Given the description of an element on the screen output the (x, y) to click on. 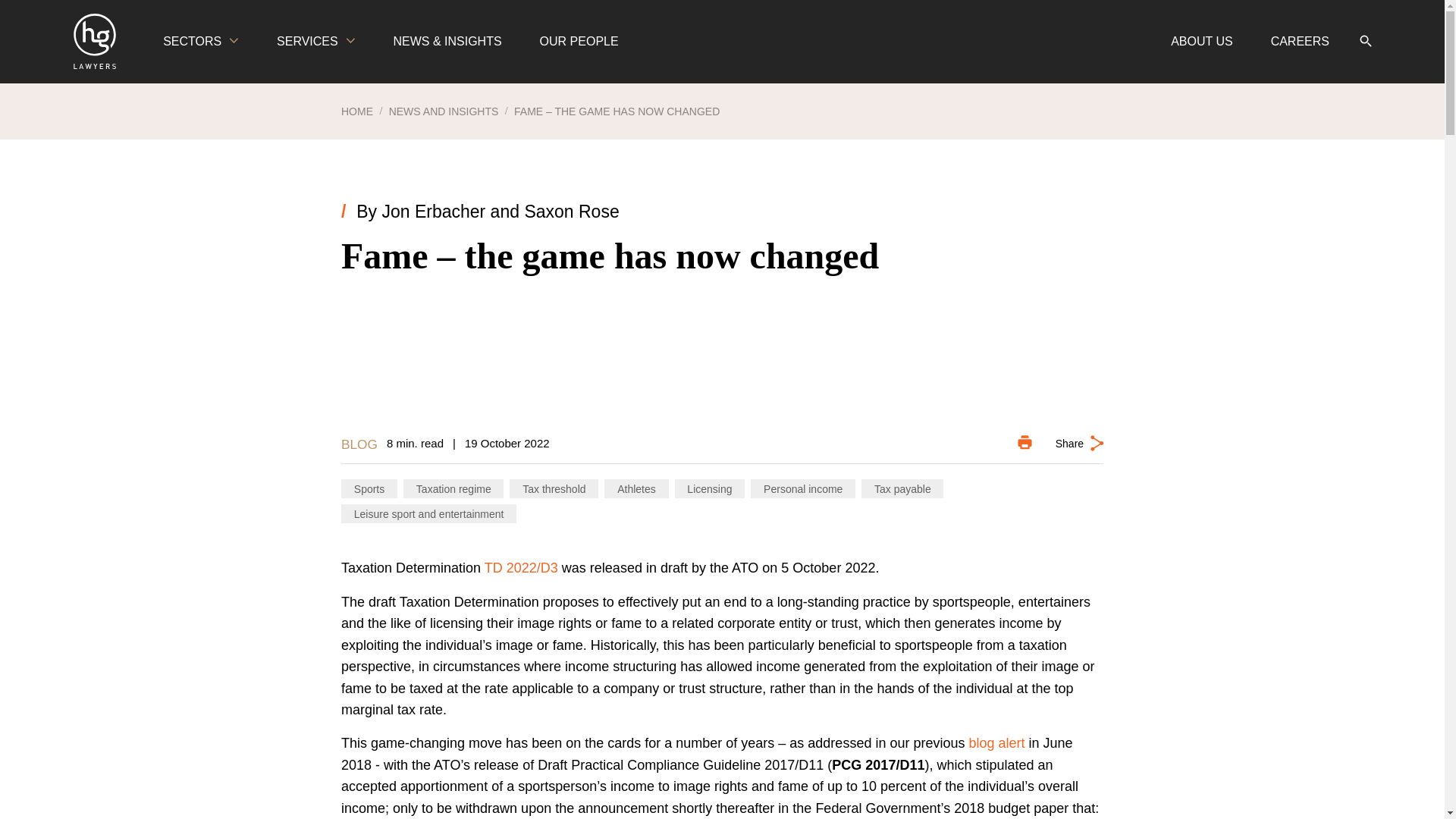
SECTORS (200, 41)
CAREERS (1299, 41)
ABOUT US (1201, 41)
OUR PEOPLE (579, 41)
SERVICES (315, 41)
